Given the description of an element on the screen output the (x, y) to click on. 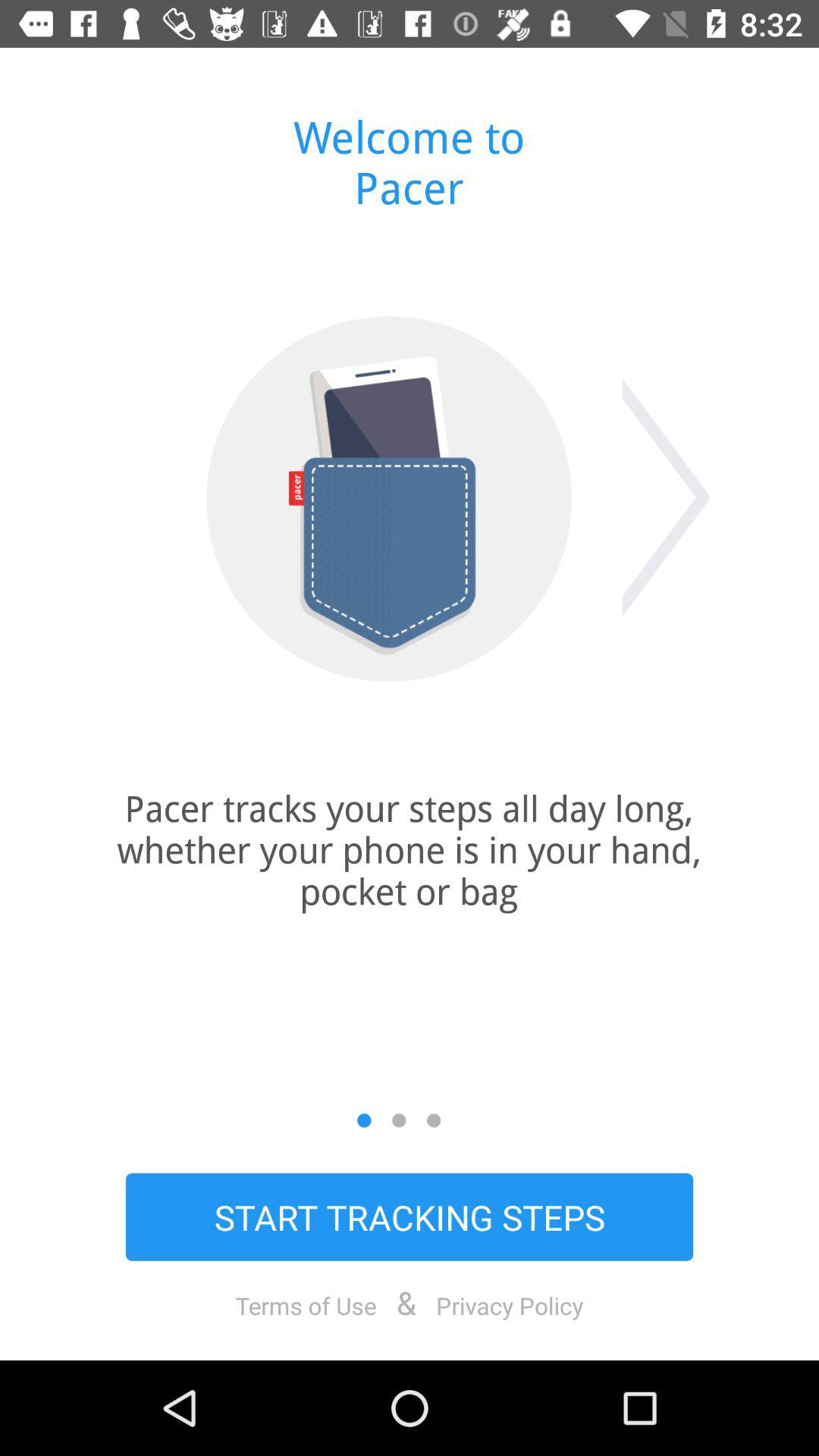
launch the item next to & (305, 1305)
